Given the description of an element on the screen output the (x, y) to click on. 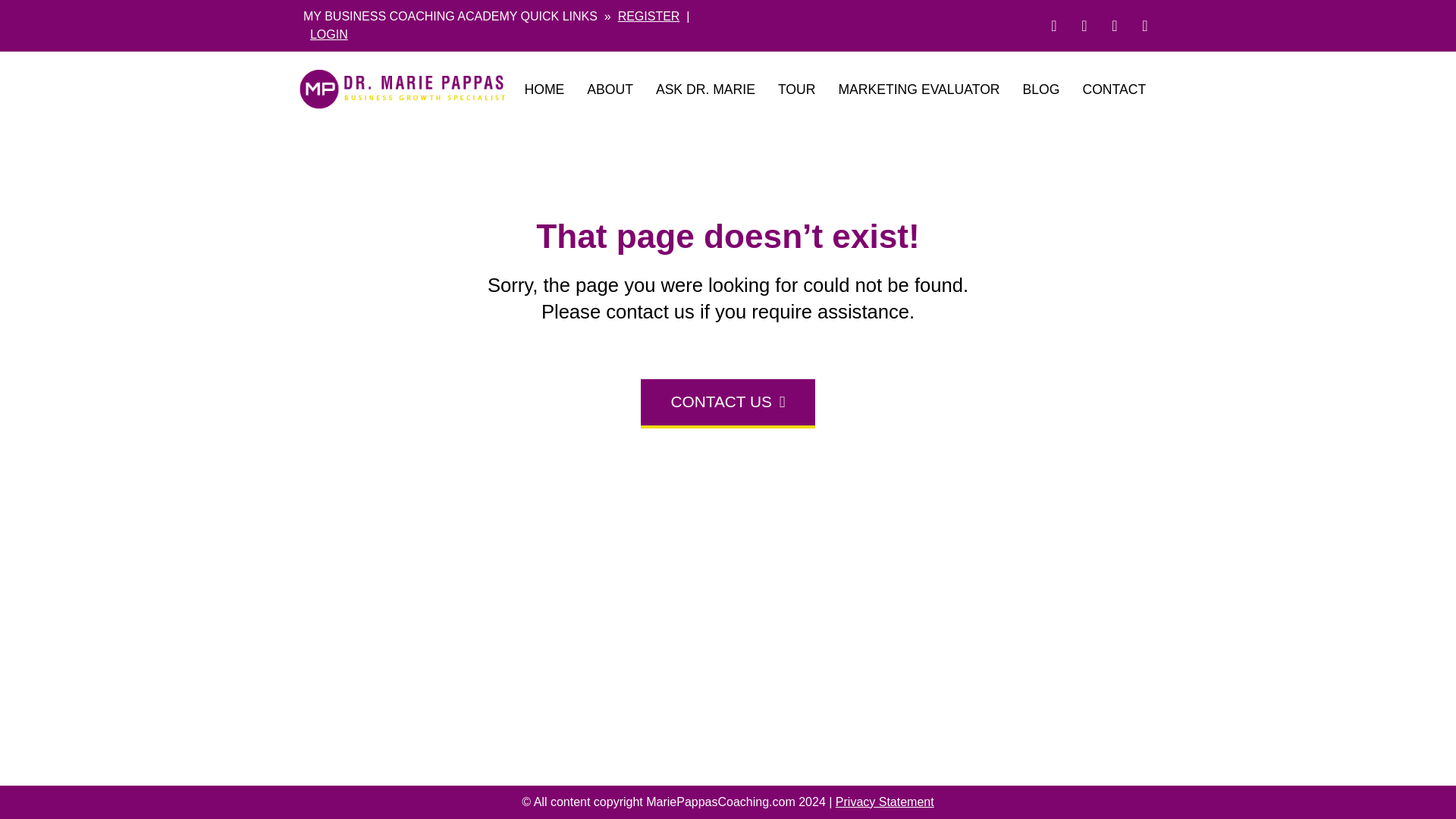
ASK DR. MARIE (706, 89)
REGISTER (648, 15)
CONTACT (1113, 89)
HOME (543, 89)
ABOUT (610, 89)
Privacy Statement (884, 801)
MARKETING EVALUATOR (918, 89)
CONTACT US (727, 403)
LOGIN (328, 33)
TOUR (797, 89)
BLOG (1041, 89)
